Given the description of an element on the screen output the (x, y) to click on. 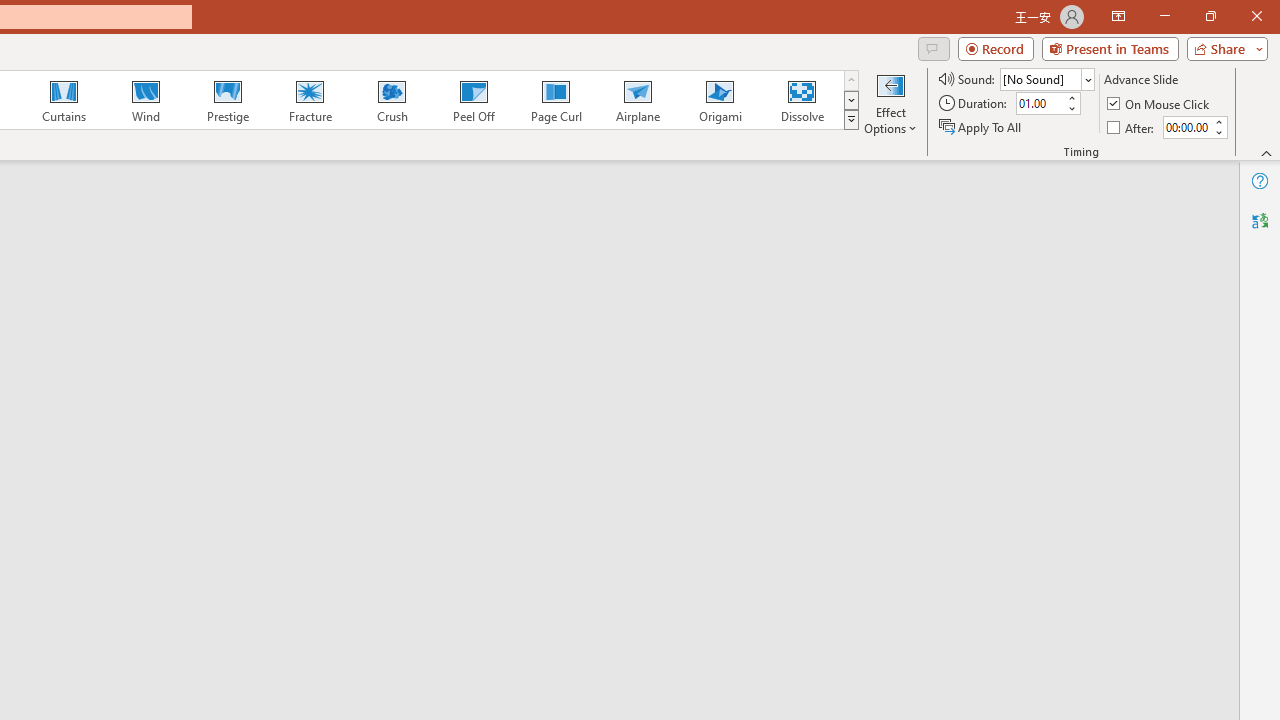
After (1186, 127)
More (1218, 121)
Open (1087, 79)
Row Down (850, 100)
Prestige (227, 100)
Origami (719, 100)
Apply To All (981, 126)
Wind (145, 100)
Peel Off (473, 100)
Class: NetUIImage (851, 119)
